Given the description of an element on the screen output the (x, y) to click on. 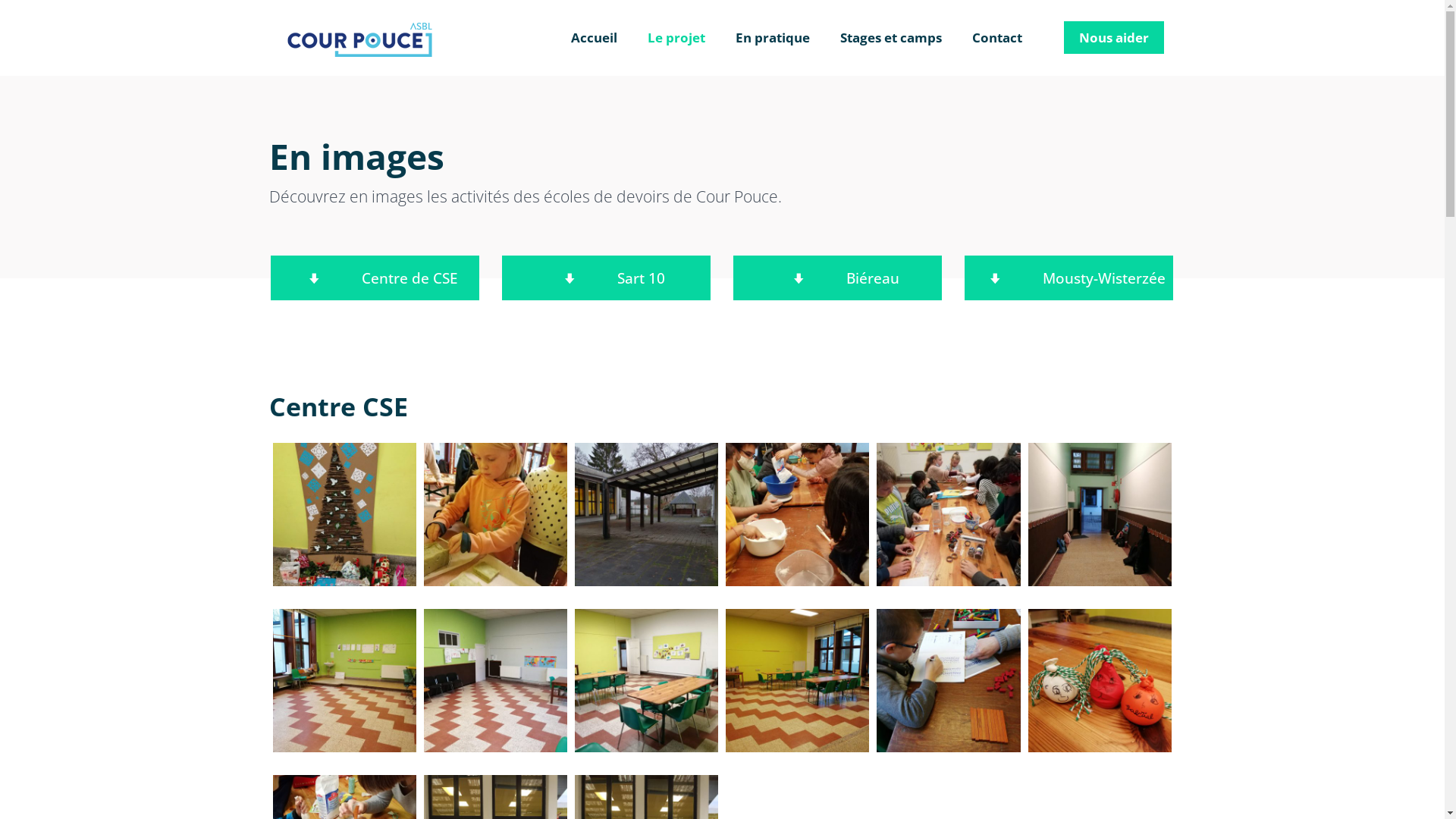
Le projet Element type: text (676, 37)
Cour Pouce Element type: hover (359, 37)
Sart 10 Element type: text (606, 277)
Contact Element type: text (997, 37)
En pratique Element type: text (772, 37)
Accueil Element type: text (593, 37)
Nous aider Element type: text (1113, 37)
Centre de CSE Element type: text (374, 277)
Stages et camps Element type: text (891, 37)
